Given the description of an element on the screen output the (x, y) to click on. 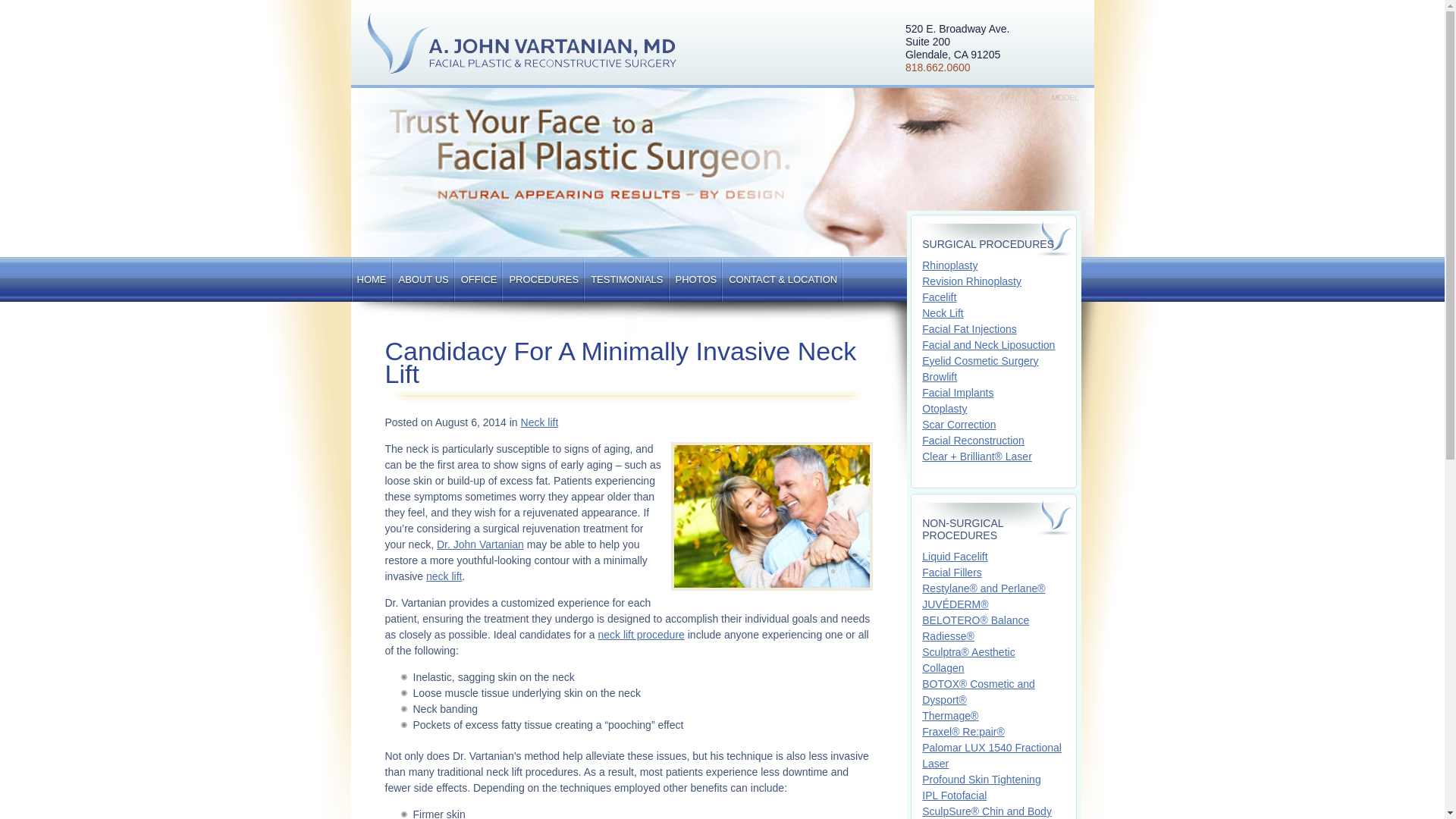
ABOUT US (423, 279)
PROCEDURES (543, 279)
HOME (957, 41)
OFFICE (370, 279)
818.662.0600 (478, 279)
TESTIMONIALS (957, 67)
